Given the description of an element on the screen output the (x, y) to click on. 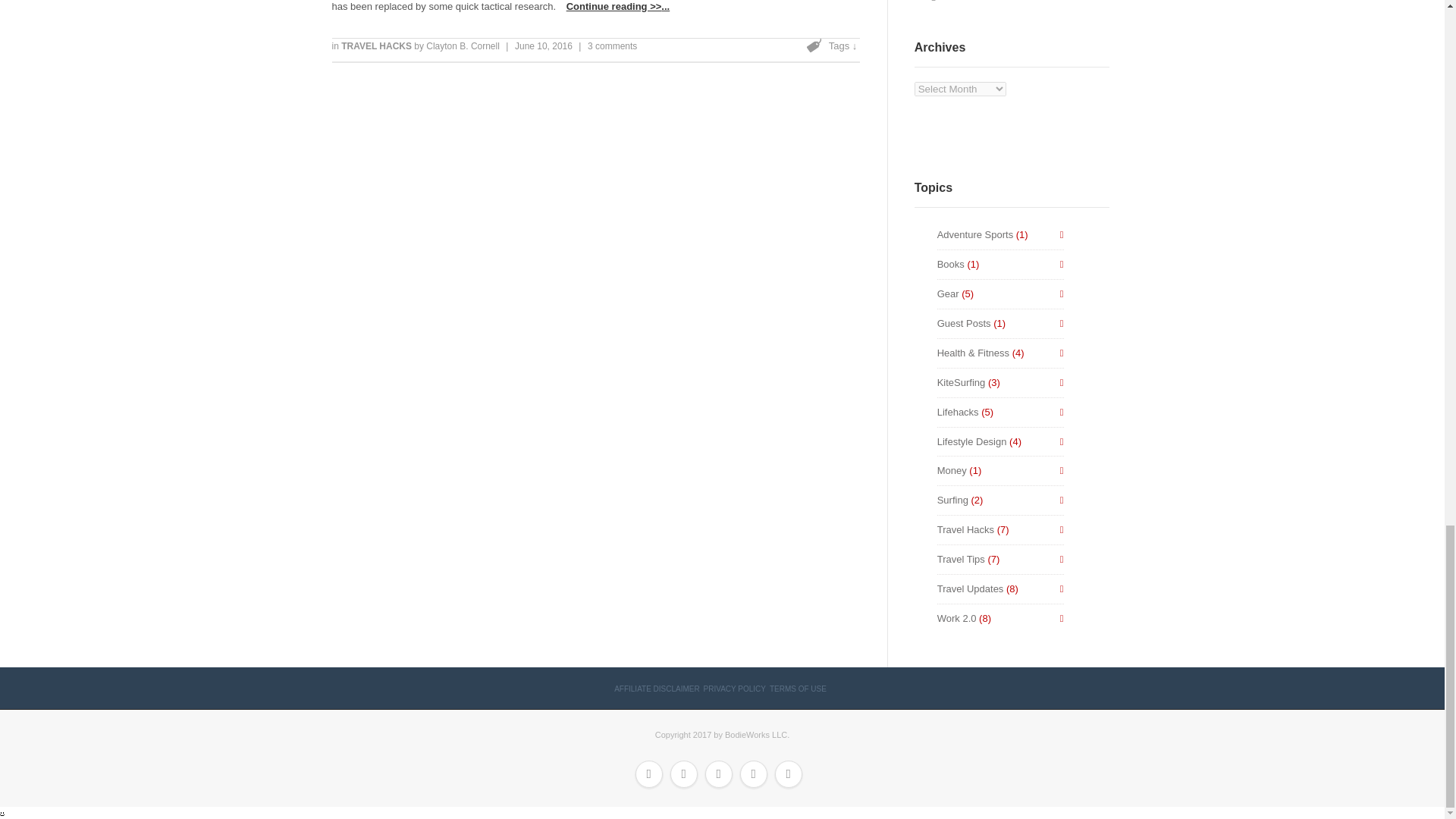
Clayton B. Cornell (462, 45)
TRAVEL HACKS (376, 45)
3 comments (612, 45)
